Given the description of an element on the screen output the (x, y) to click on. 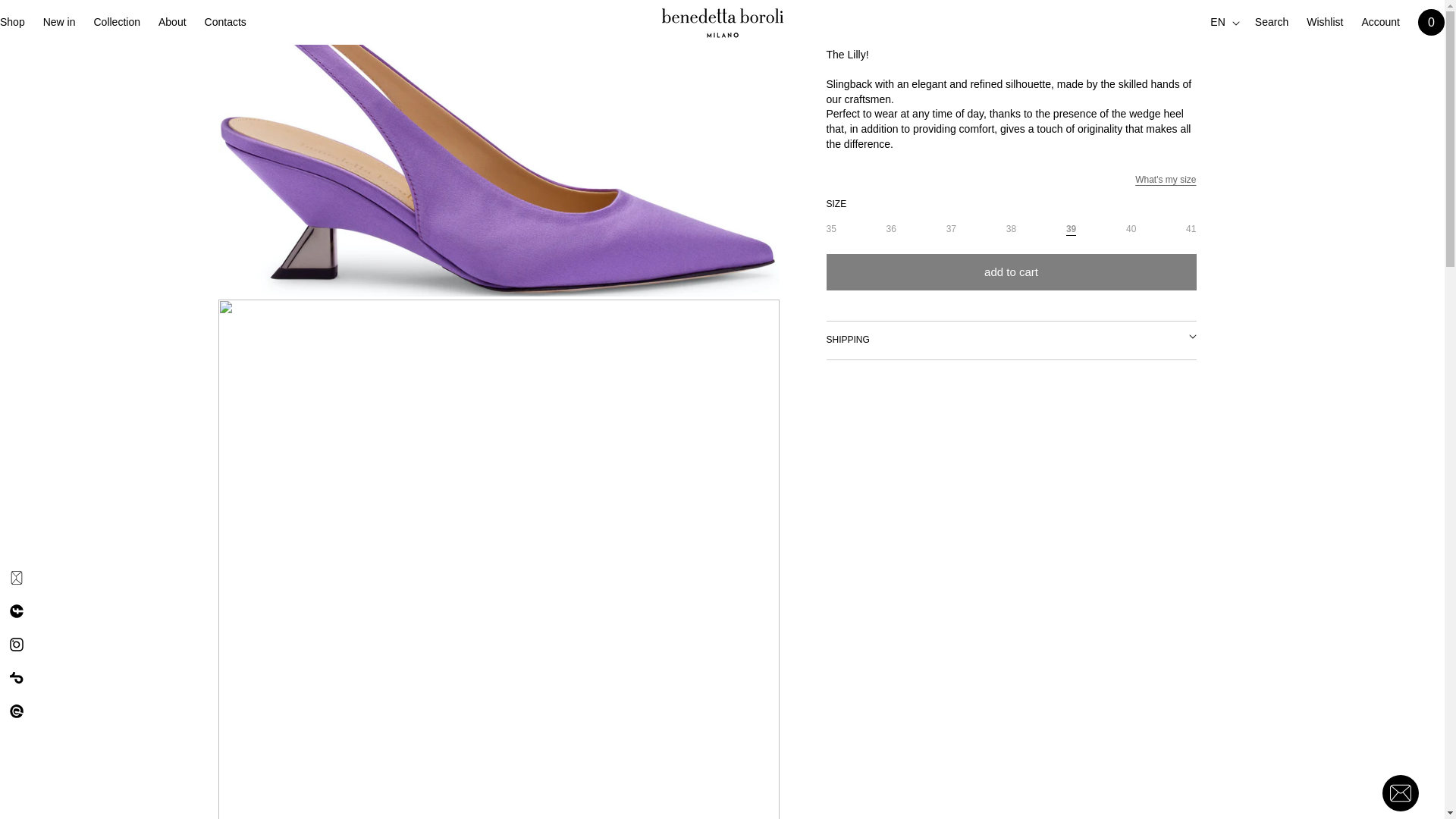
Skip to content (45, 18)
New in (58, 21)
